Given the description of an element on the screen output the (x, y) to click on. 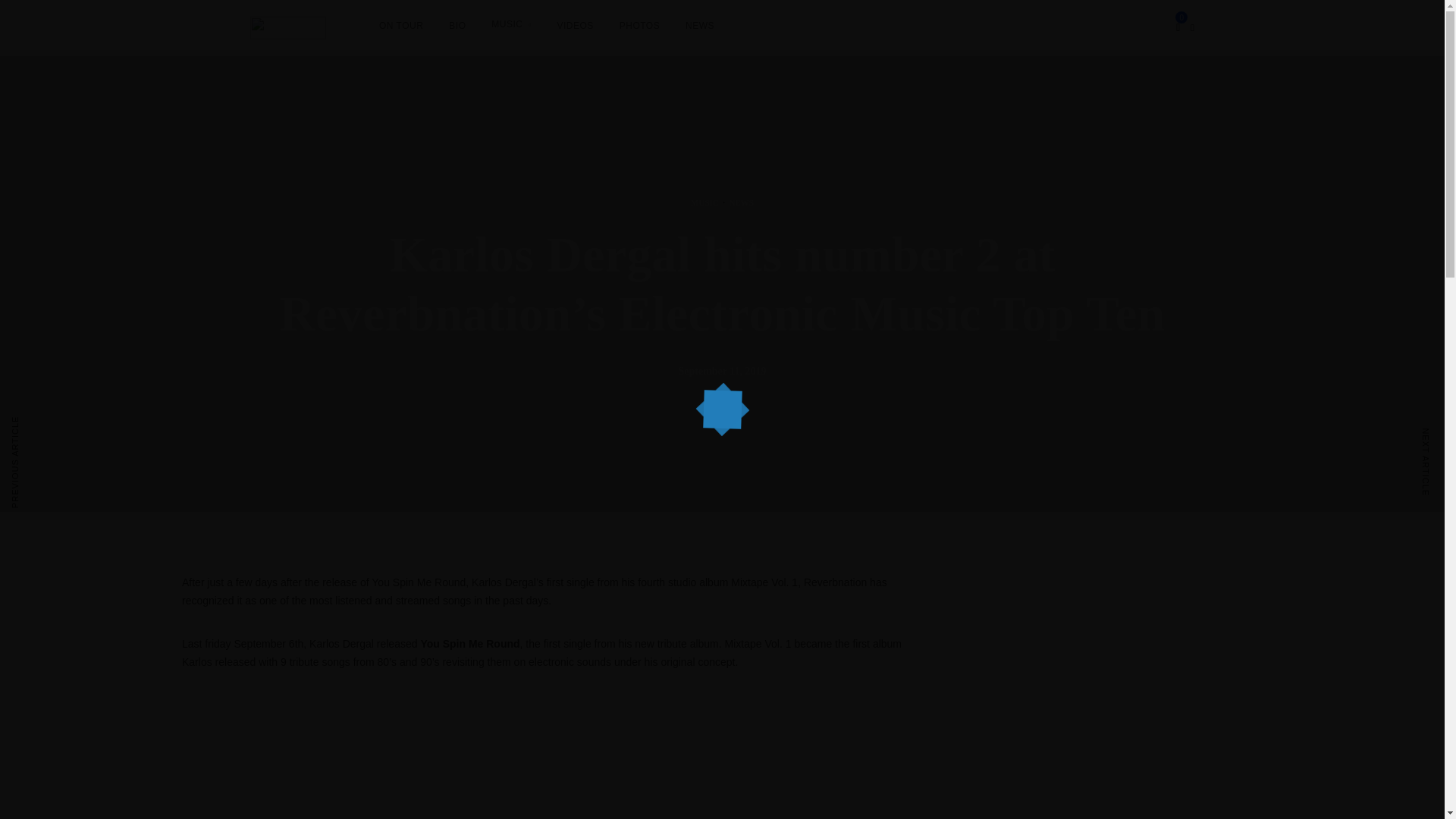
MUSIC (510, 24)
VIDEOS (573, 25)
NEWS (700, 25)
BIO (457, 25)
ON TOUR (401, 25)
NEWS (741, 202)
PHOTOS (638, 25)
MUSIC (704, 202)
